Given the description of an element on the screen output the (x, y) to click on. 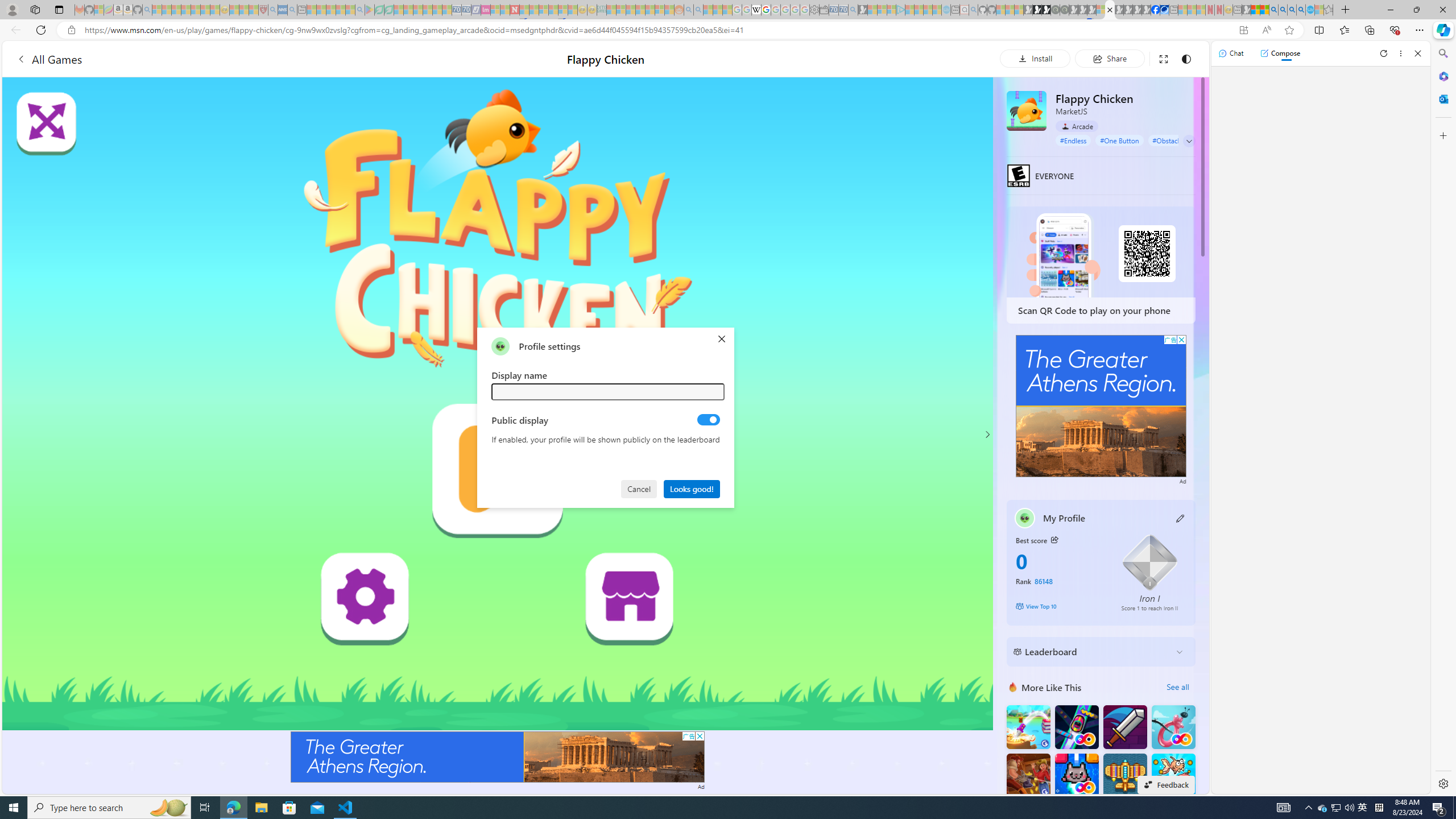
Advertisement (1101, 405)
View Top 10 (1060, 605)
Nordace | Facebook (1154, 9)
Full screen (1163, 58)
Fish Merge FRVR (1173, 775)
Class: text-input (608, 391)
See all (1177, 687)
